Given the description of an element on the screen output the (x, y) to click on. 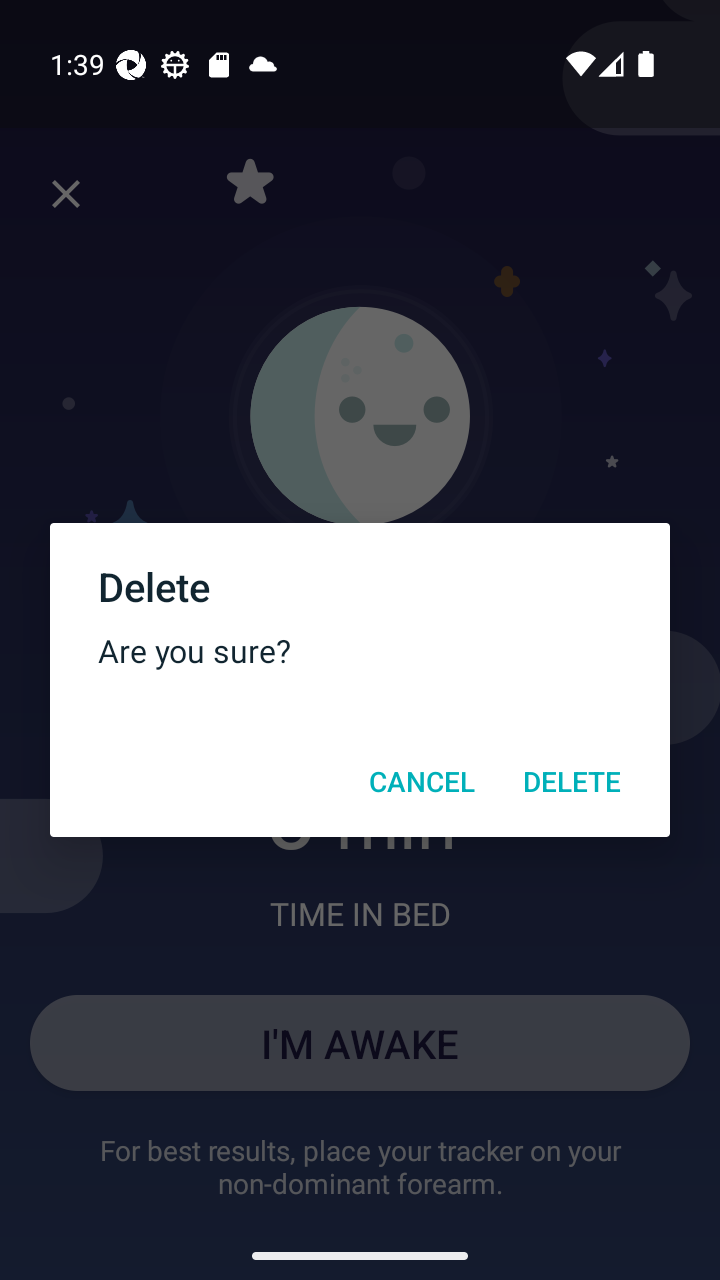
CANCEL (421, 781)
DELETE (571, 781)
